Given the description of an element on the screen output the (x, y) to click on. 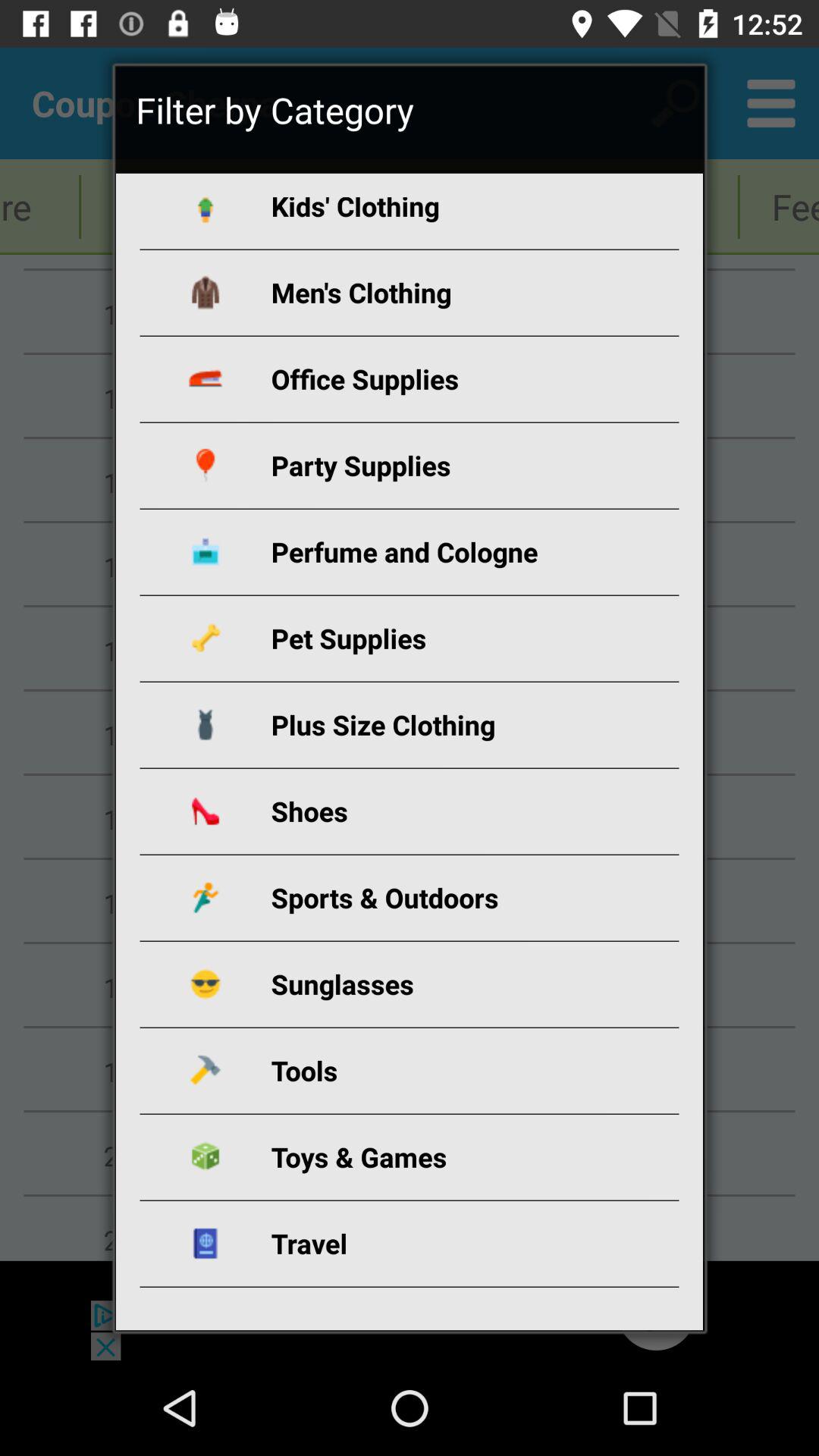
launch the icon above men's clothing (427, 210)
